Given the description of an element on the screen output the (x, y) to click on. 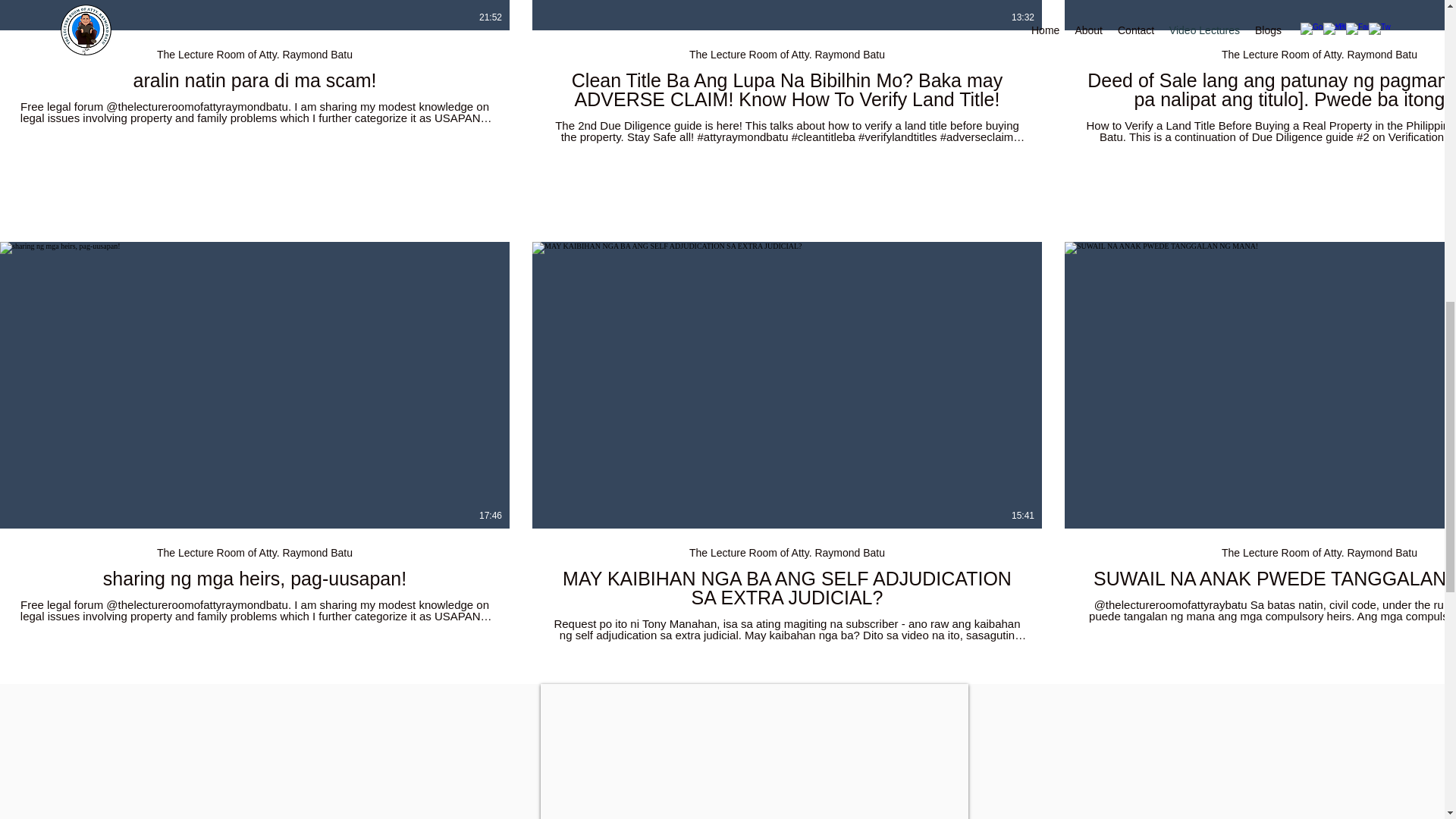
sharing ng mga heirs, pag-uusapan! (254, 578)
aralin natin para di ma scam! (254, 79)
MAY KAIBIHAN NGA BA ANG SELF ADJUDICATION SA EXTRA JUDICIAL? (786, 588)
